Given the description of an element on the screen output the (x, y) to click on. 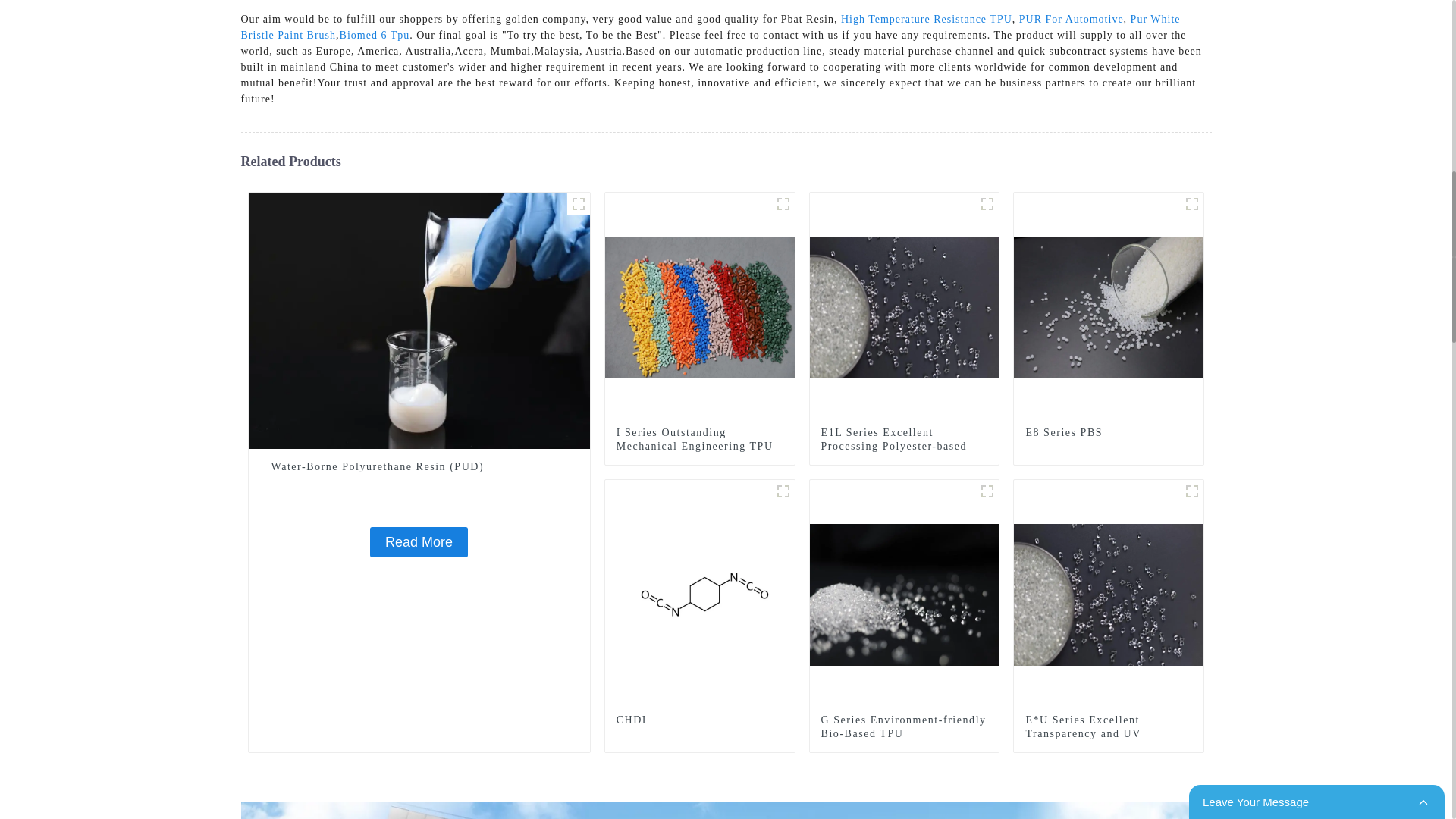
PBS (1192, 203)
E8 Series PBS (1108, 432)
High Temperature Resistance TPU (926, 19)
I Series Outstanding Mechanical Engineering TPU (699, 439)
E8 Series PBS (1108, 306)
CHDI (782, 490)
Pur White Bristle Paint Brush (710, 26)
E1L Series Excellent Processing Polyester-based TPU (904, 445)
I Series Outstanding Mechanical Engineering TPU (699, 306)
CHDI (699, 593)
Biomed 6 Tpu (374, 34)
PUR For Automotive (1071, 19)
E1L Series Excellent Processing Polyester-based TPU (903, 306)
Engineering TPU (782, 203)
Polyester-Based TPU (986, 203)
